Given the description of an element on the screen output the (x, y) to click on. 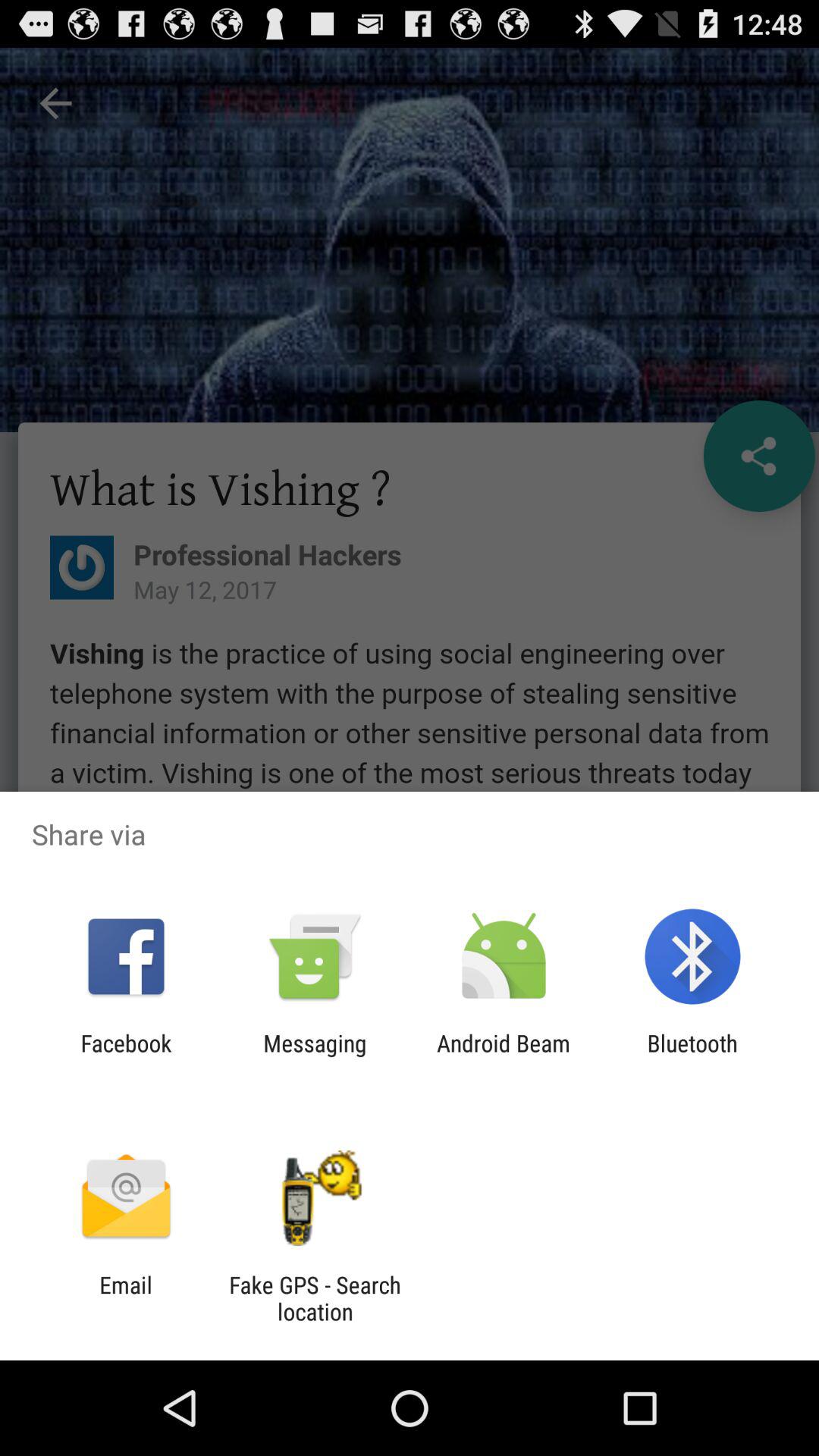
scroll until fake gps search icon (314, 1298)
